Given the description of an element on the screen output the (x, y) to click on. 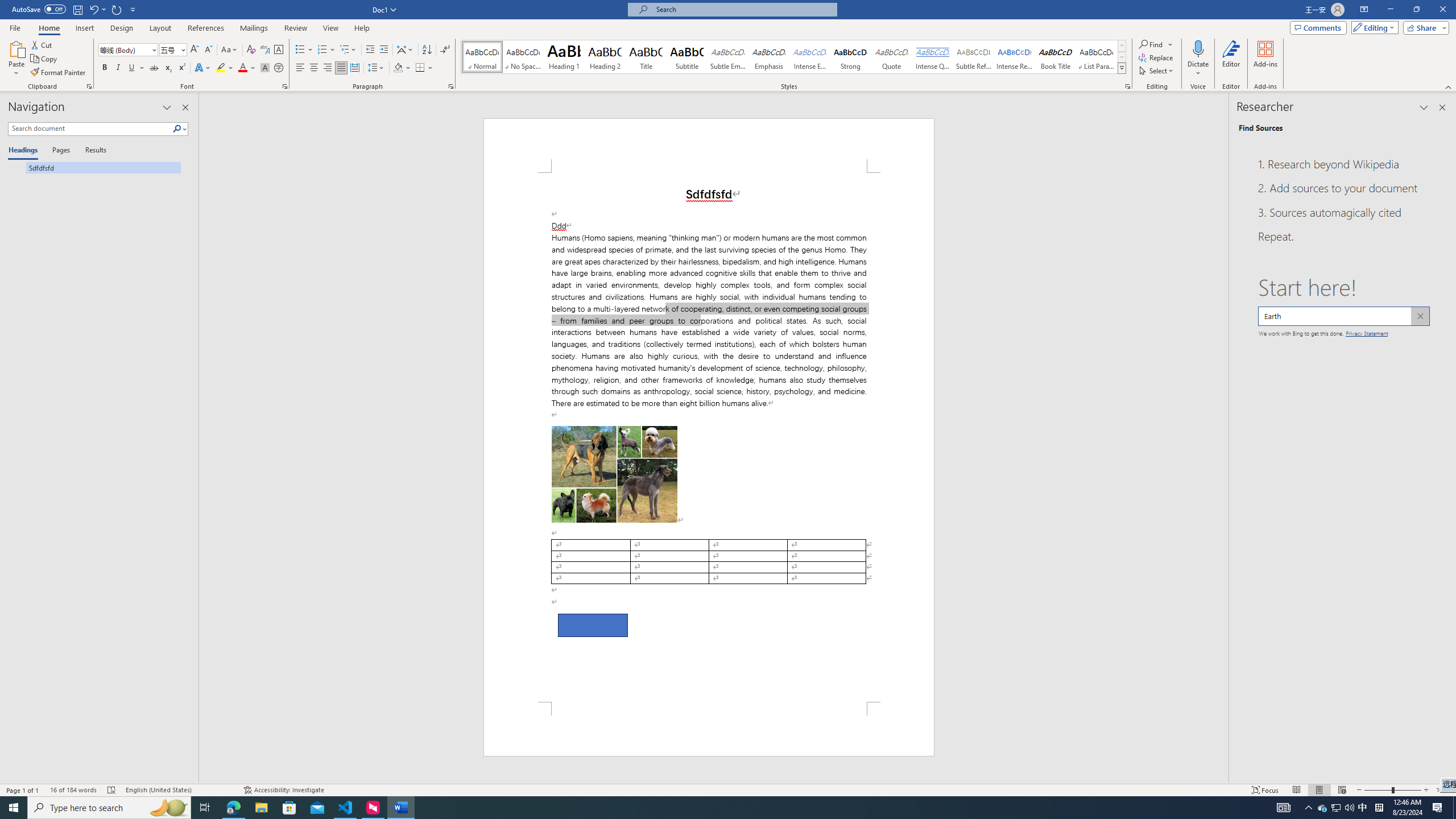
Zoom 100% (1443, 790)
Header -Section 1- (708, 144)
Paste (16, 48)
Numbering (322, 49)
Numbering (326, 49)
Office Clipboard... (88, 85)
Customize Quick Access Toolbar (133, 9)
Mode (1372, 27)
Class: NetUIScrollBar (1223, 437)
Align Right (327, 67)
Shading RGB(0, 0, 0) (397, 67)
Font Color (246, 67)
Heading 1 (564, 56)
Privacy Statement (1367, 332)
Intense Reference (1014, 56)
